Given the description of an element on the screen output the (x, y) to click on. 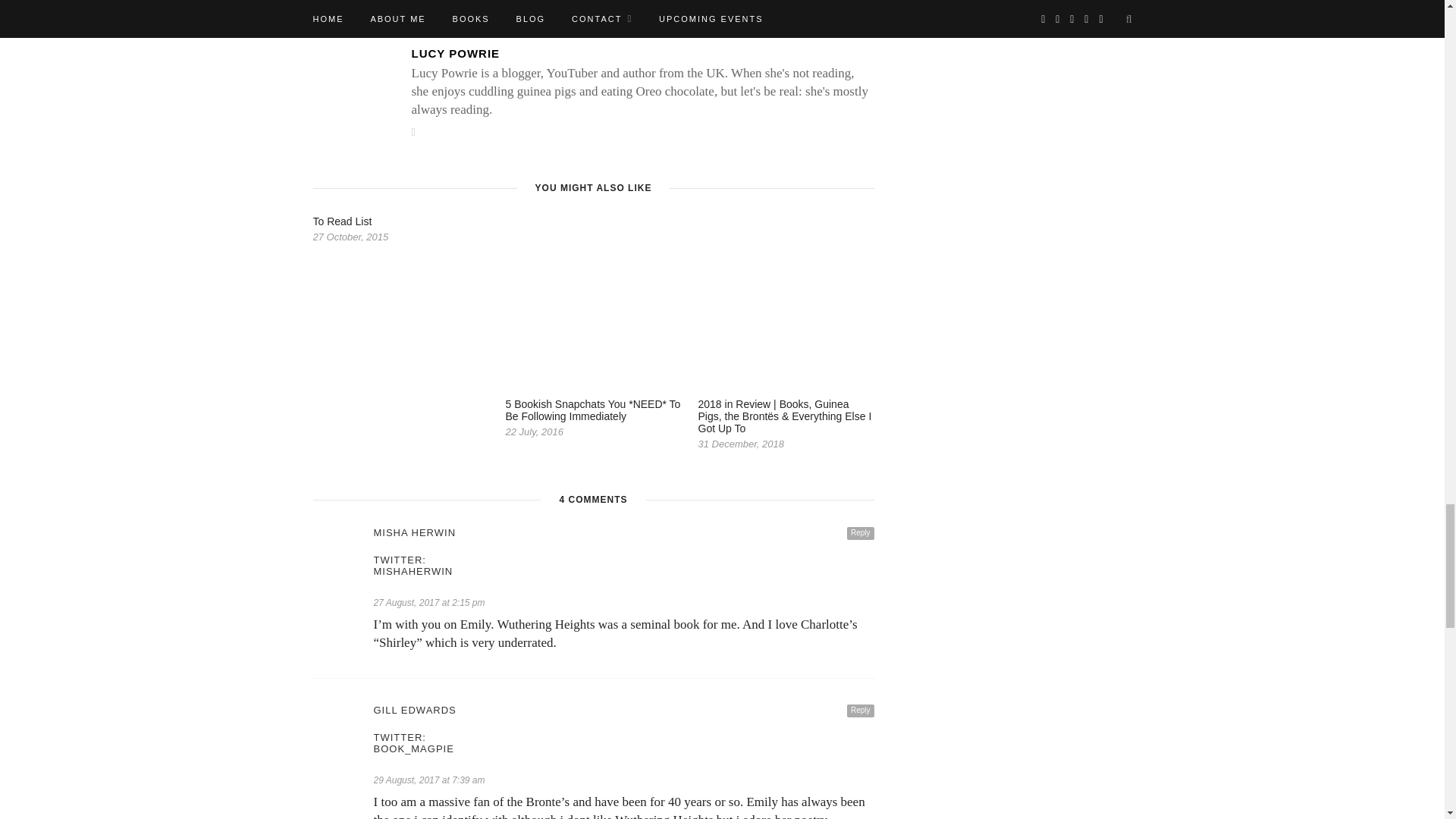
LUCY POWRIE (641, 52)
Reply (861, 710)
Reply (861, 533)
Posts by Lucy Powrie (641, 52)
MISHA HERWIN (622, 532)
To Read List (342, 221)
MISHAHERWIN (622, 571)
